Given the description of an element on the screen output the (x, y) to click on. 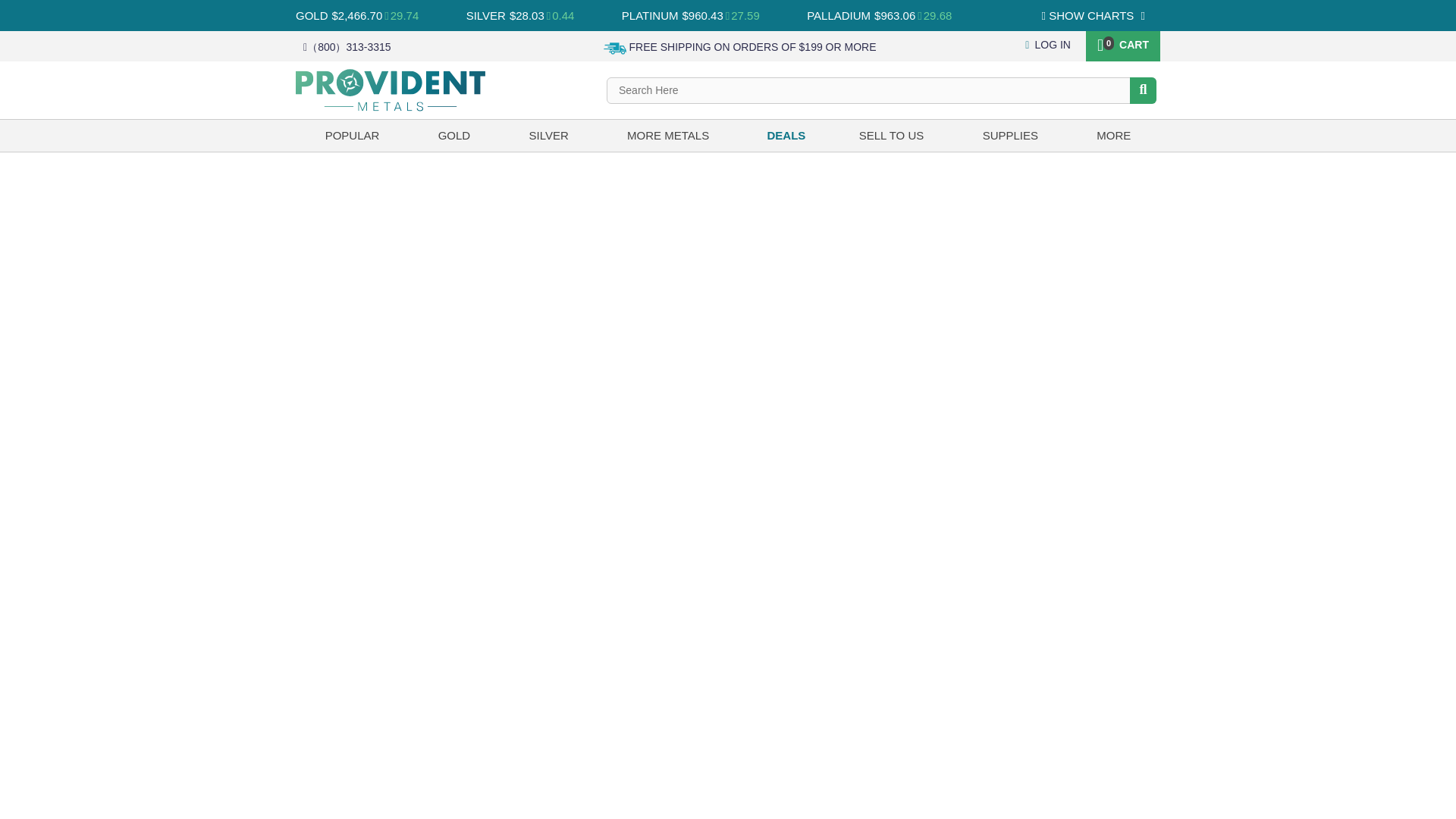
PALLADIUM (838, 15)
LOG IN (1047, 44)
PLATINUM (649, 15)
GOLD (312, 15)
SILVER (485, 15)
POPULAR (352, 134)
0CART (1122, 43)
